Given the description of an element on the screen output the (x, y) to click on. 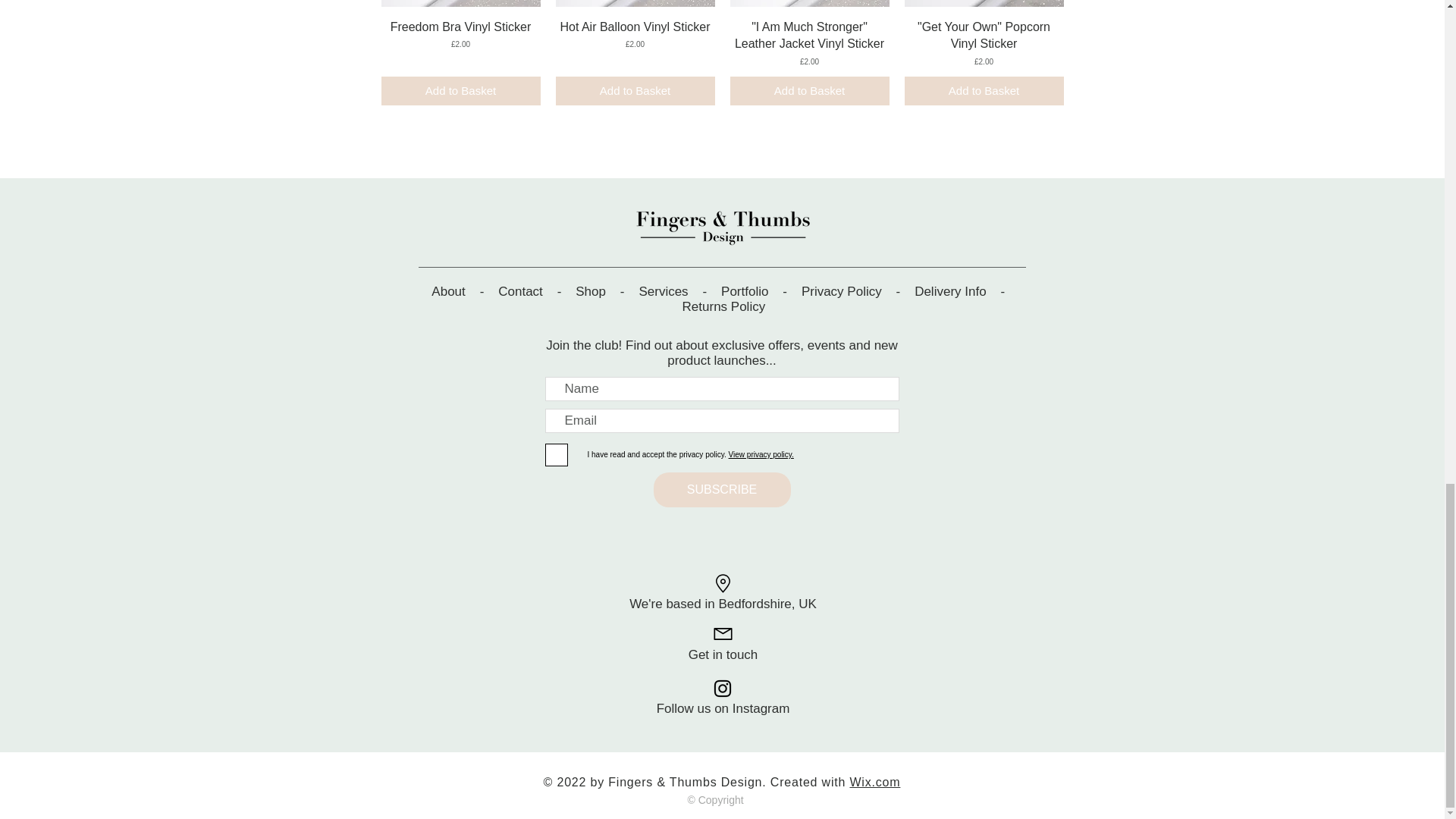
Add to Basket (460, 91)
Add to Basket (634, 91)
Add to Basket (808, 91)
I'm New! (808, 3)
I'm New! (634, 3)
I'm New! (460, 3)
I'm New! (983, 3)
Add to Basket (983, 91)
